Given the description of an element on the screen output the (x, y) to click on. 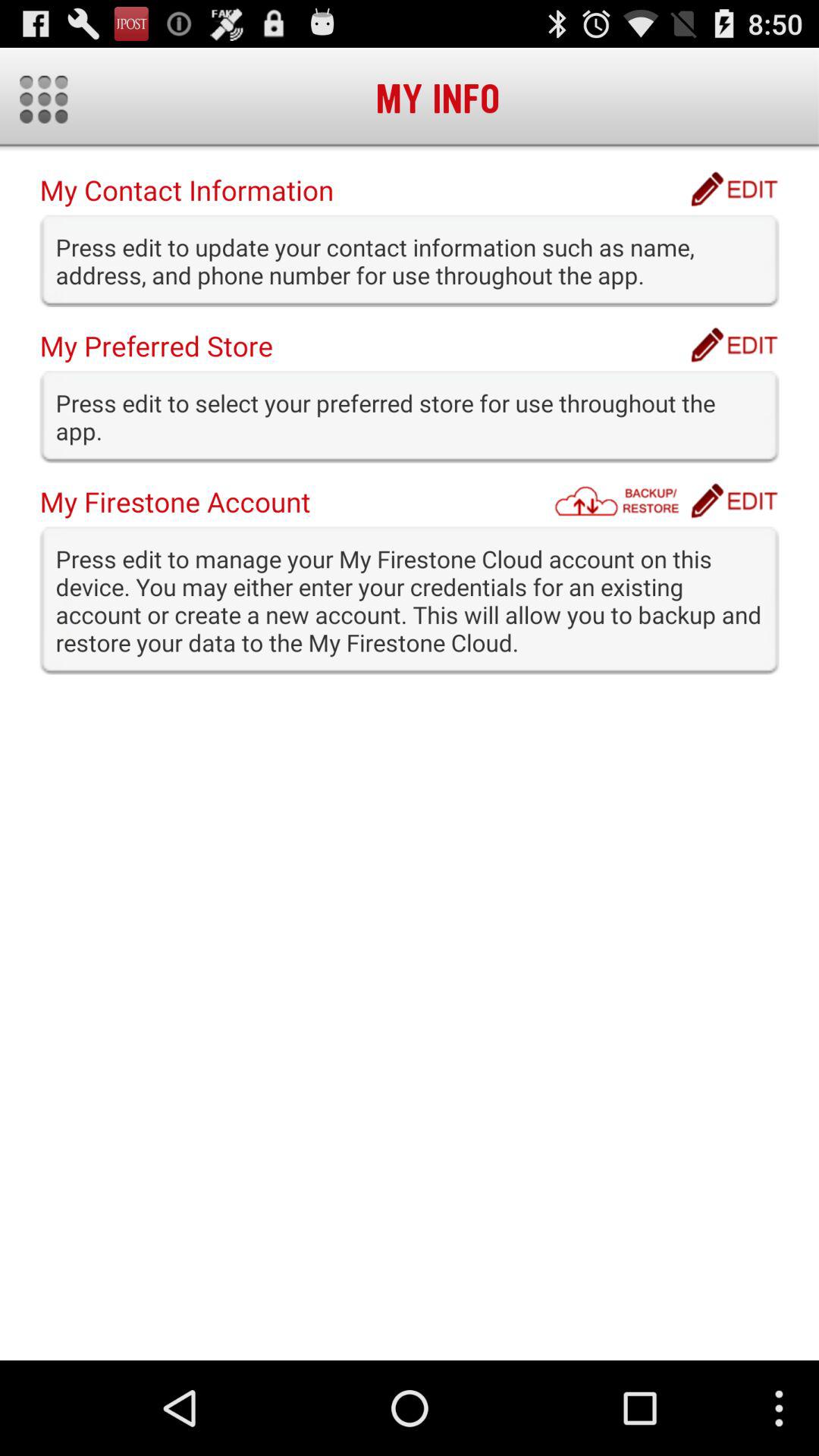
edit contact info (734, 189)
